Given the description of an element on the screen output the (x, y) to click on. 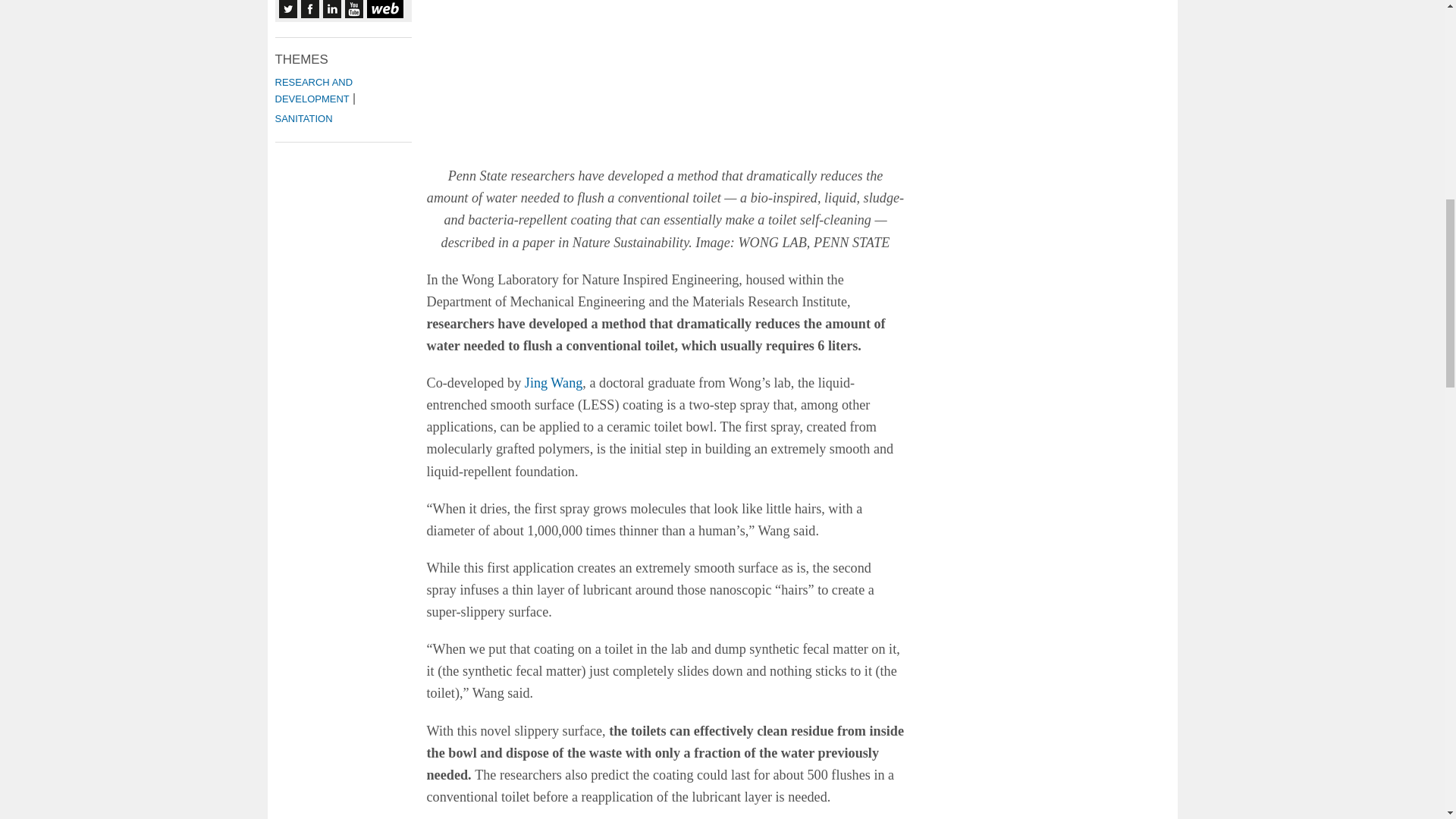
View Penn State's profile on LinkedIn (331, 9)
View Penn State's profile on Facebook (309, 9)
Youtube (353, 9)
Jing Wang (553, 382)
Facebook (309, 9)
SANITATION (303, 118)
View Penn State's website (384, 9)
Twitter (288, 9)
LinkedIn (331, 9)
View Penn State's profile on Twitter (288, 9)
